Given the description of an element on the screen output the (x, y) to click on. 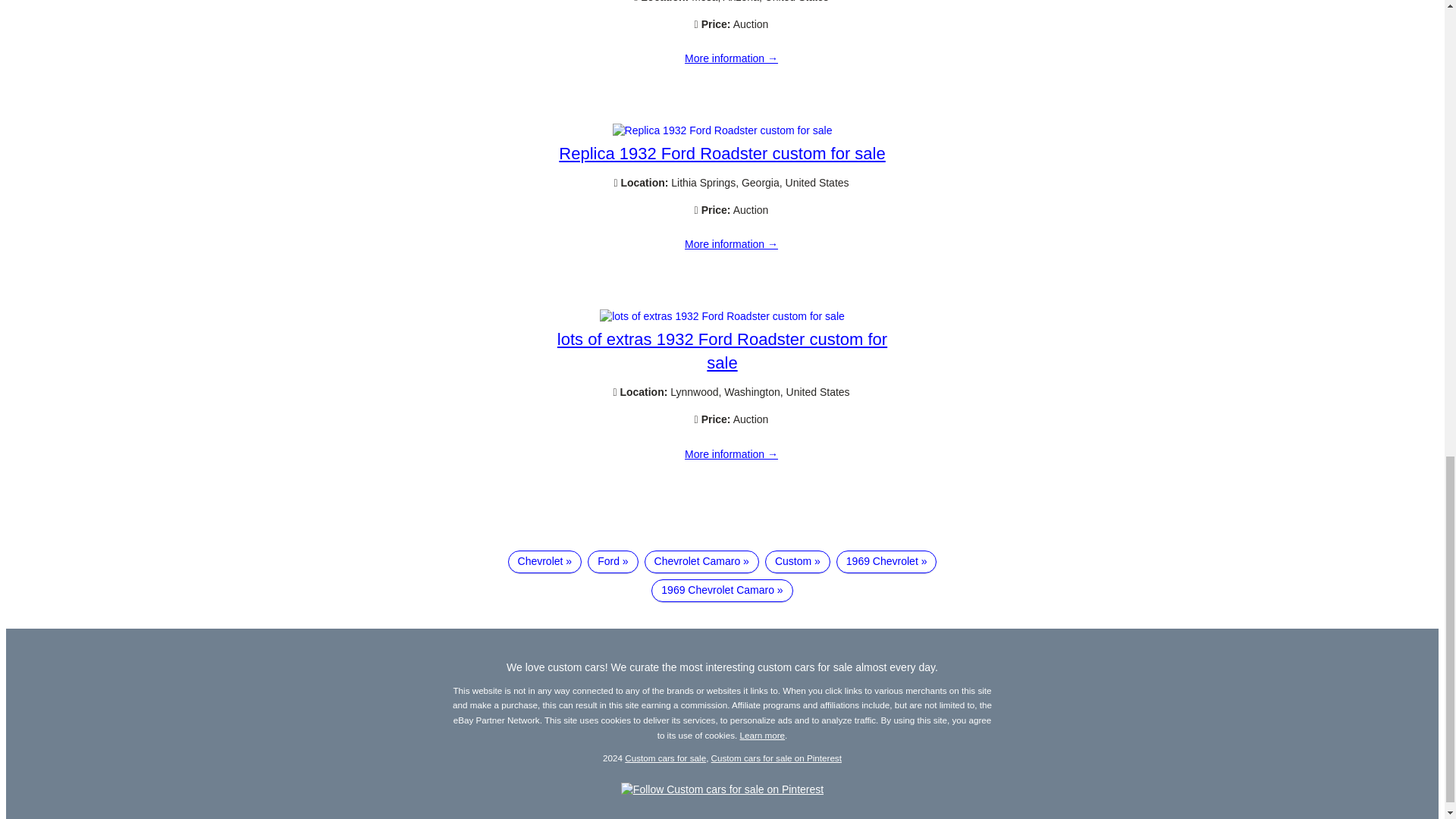
Ford (612, 561)
Custom cars for sale on Pinterest (776, 757)
lots of extras 1932 Ford Roadster custom for sale (721, 316)
Chevrolet Camaro (701, 561)
Replica 1932 Ford Roadster custom for sale (731, 244)
1969 Chevrolet Camaro (721, 590)
stroker powered 1932 Ford Roadster custom for sale (731, 59)
Follow Custom cars for sale on Pinterest (722, 788)
Replica 1932 Ford Roadster custom for sale (722, 130)
lots of extras 1932 Ford Roadster custom for sale (721, 351)
